Given the description of an element on the screen output the (x, y) to click on. 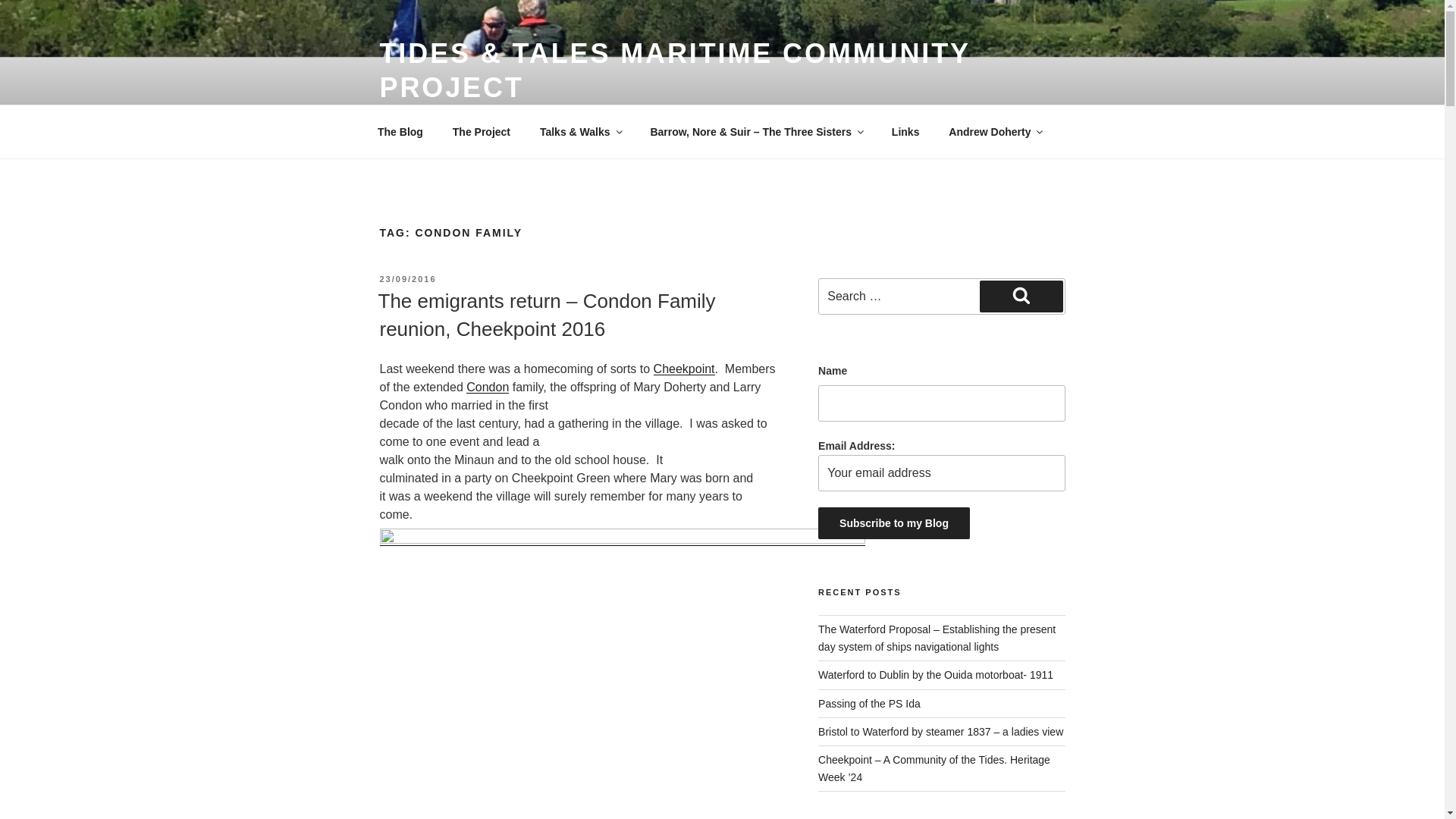
Condon (486, 386)
The Blog (399, 131)
Andrew Doherty (995, 131)
Links (905, 131)
The Project (480, 131)
Cheekpoint (683, 368)
Subscribe to my Blog (893, 522)
